Given the description of an element on the screen output the (x, y) to click on. 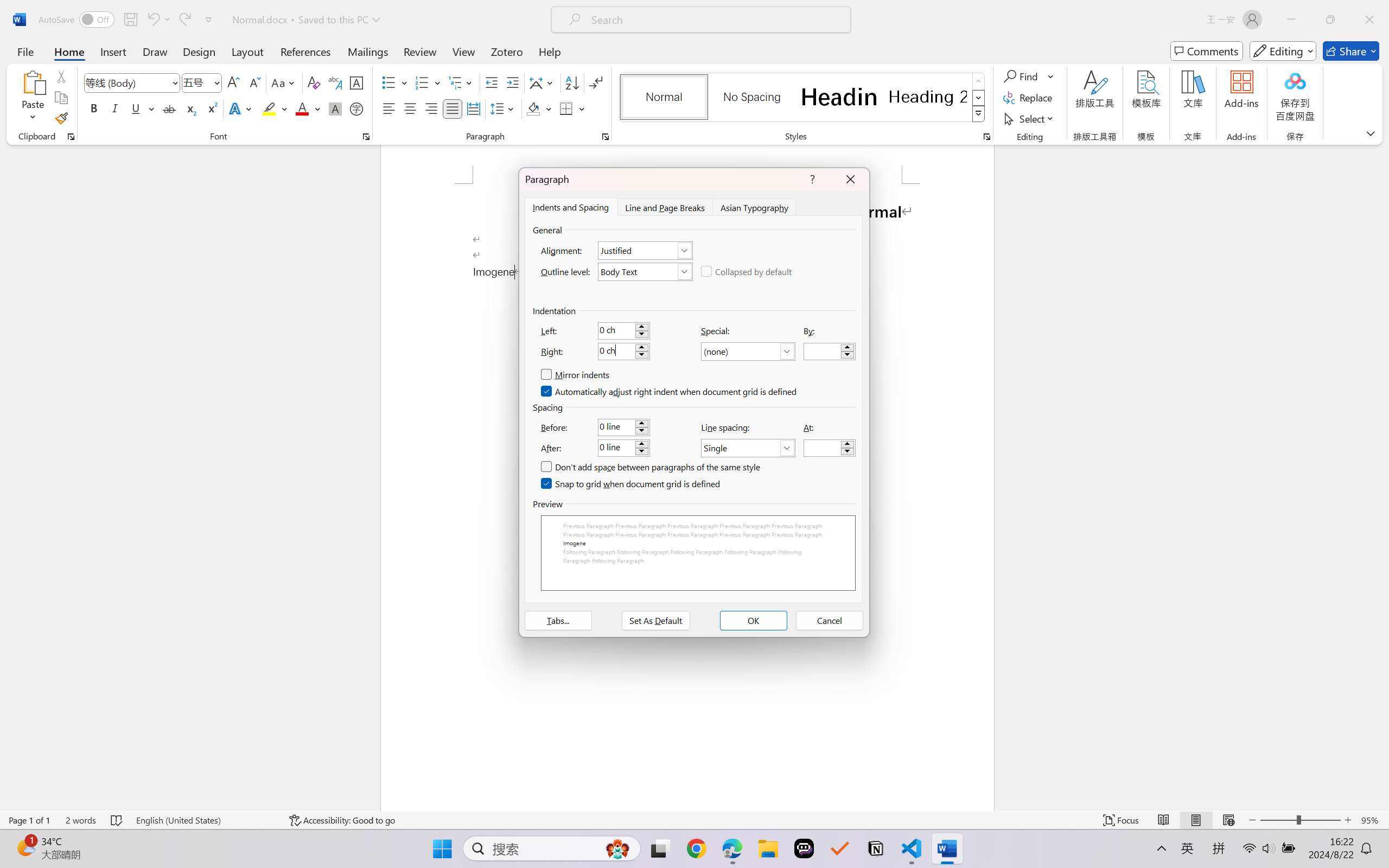
Align Left (388, 108)
Replace... (1029, 97)
Snap to grid when document grid is defined (631, 483)
Enclose Characters... (356, 108)
Bold (94, 108)
Shading (539, 108)
Line and Page Breaks (664, 206)
